Given the description of an element on the screen output the (x, y) to click on. 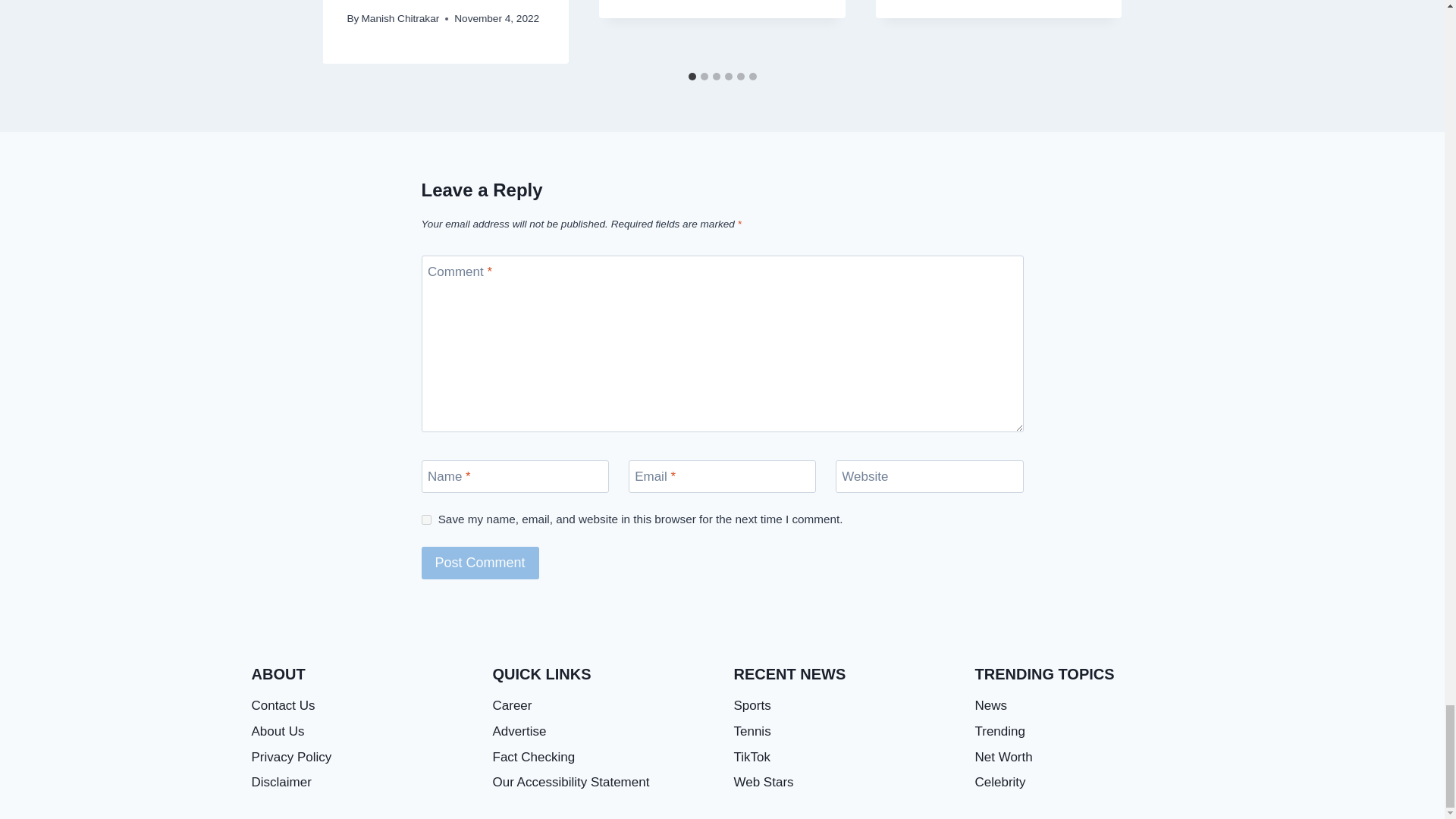
yes (426, 519)
Post Comment (480, 563)
